Given the description of an element on the screen output the (x, y) to click on. 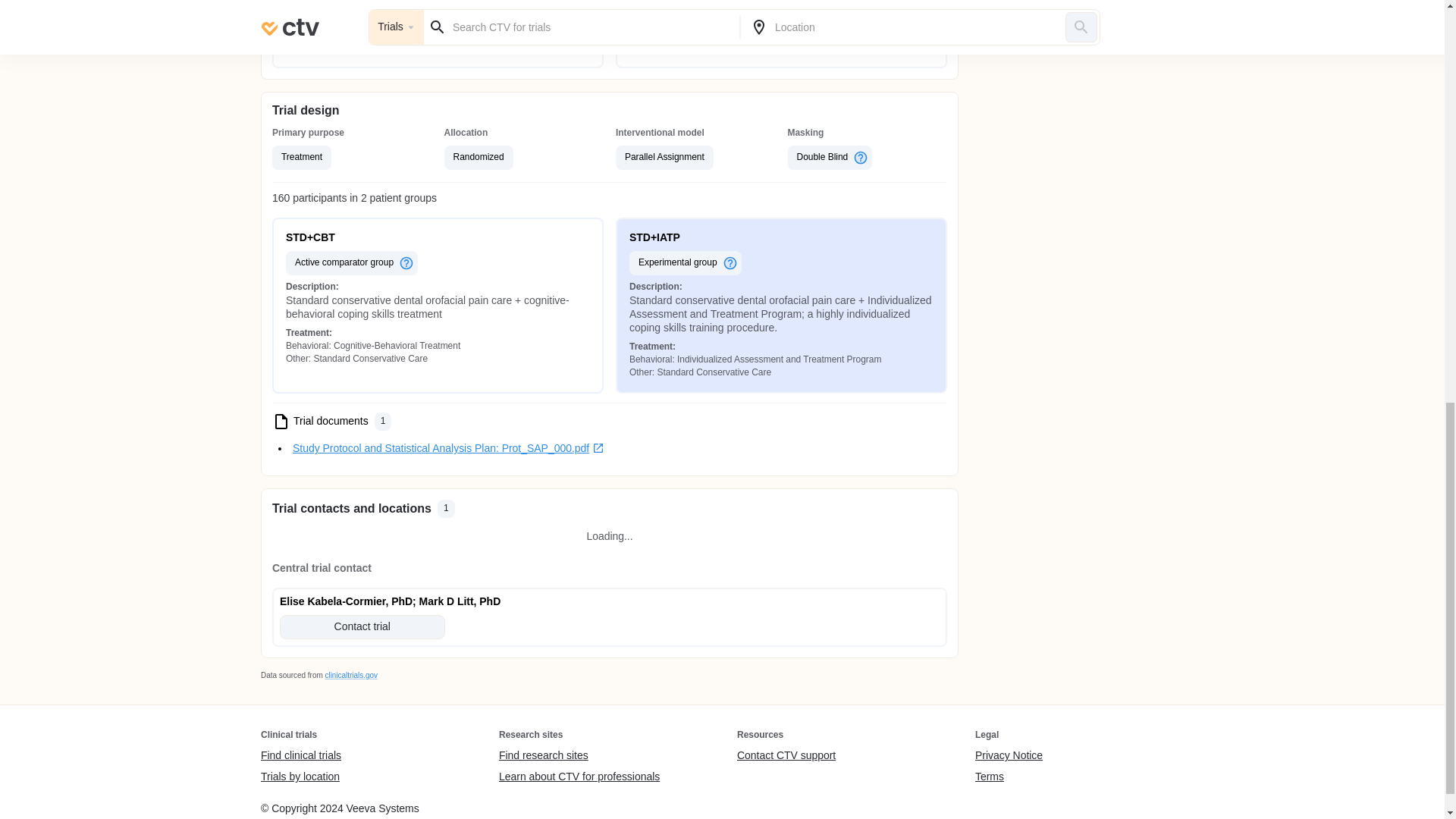
Contact CTV support (785, 755)
Terms (1008, 776)
Learn about CTV for professionals (579, 776)
Find research sites (579, 755)
Privacy Notice (1008, 755)
clinicaltrials.gov (350, 674)
Contact trial (362, 627)
Find clinical trials (300, 755)
Trials by location (300, 776)
